Given the description of an element on the screen output the (x, y) to click on. 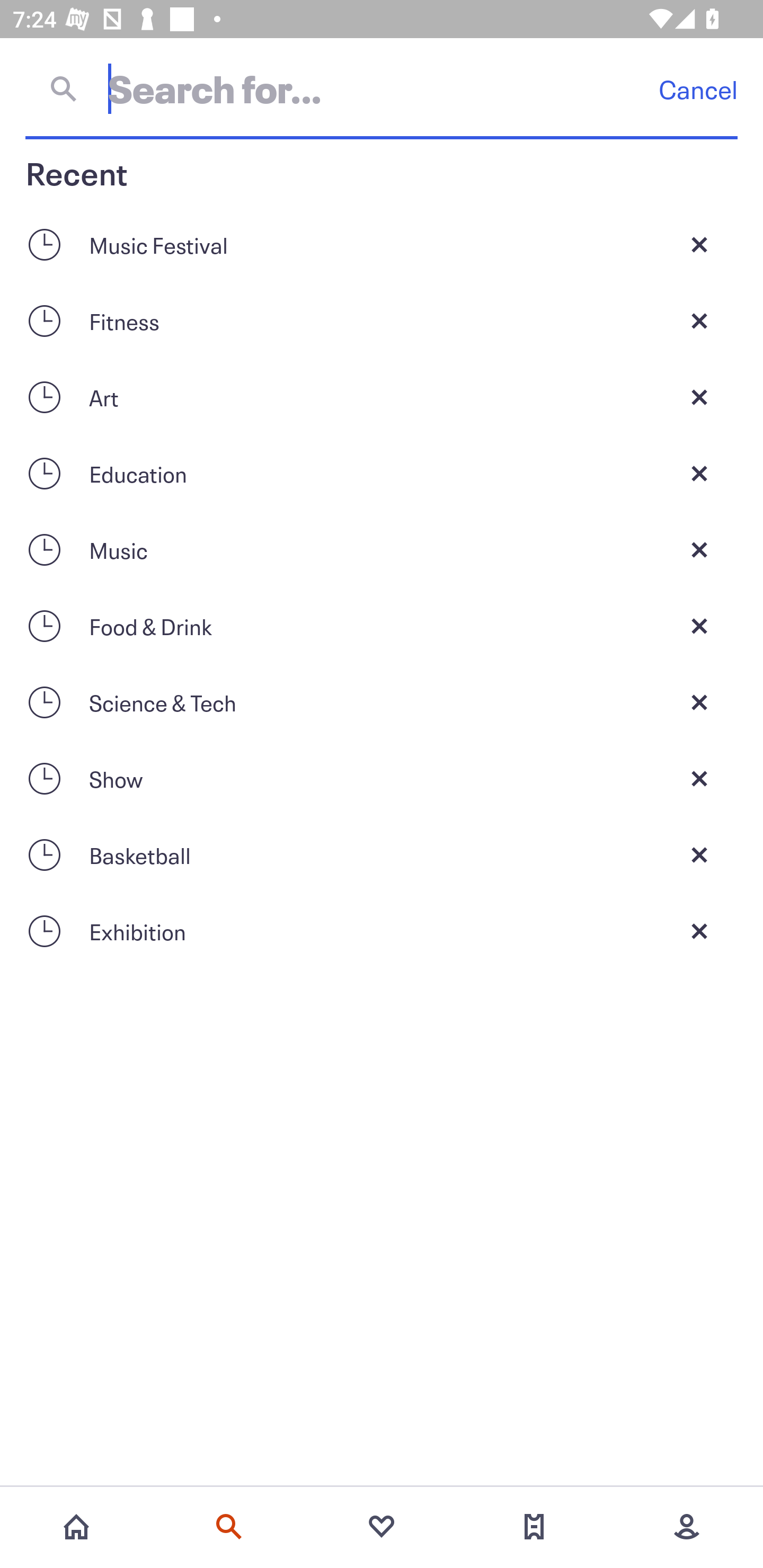
Cancel Search for… (381, 88)
Cancel (697, 89)
Music Festival Close current screen (381, 244)
Close current screen (699, 244)
Fitness Close current screen (381, 320)
Close current screen (699, 320)
Art Close current screen (381, 397)
Close current screen (699, 397)
Education Close current screen (381, 473)
Close current screen (699, 473)
Music Close current screen (381, 549)
Close current screen (699, 549)
Food & Drink Close current screen (381, 626)
Close current screen (699, 626)
Science & Tech Close current screen (381, 702)
Close current screen (699, 702)
Show Close current screen (381, 778)
Close current screen (699, 778)
Basketball Close current screen (381, 854)
Close current screen (699, 854)
Exhibition Close current screen (381, 931)
Close current screen (699, 931)
Home (76, 1526)
Search events (228, 1526)
Favorites (381, 1526)
Tickets (533, 1526)
More (686, 1526)
